Given the description of an element on the screen output the (x, y) to click on. 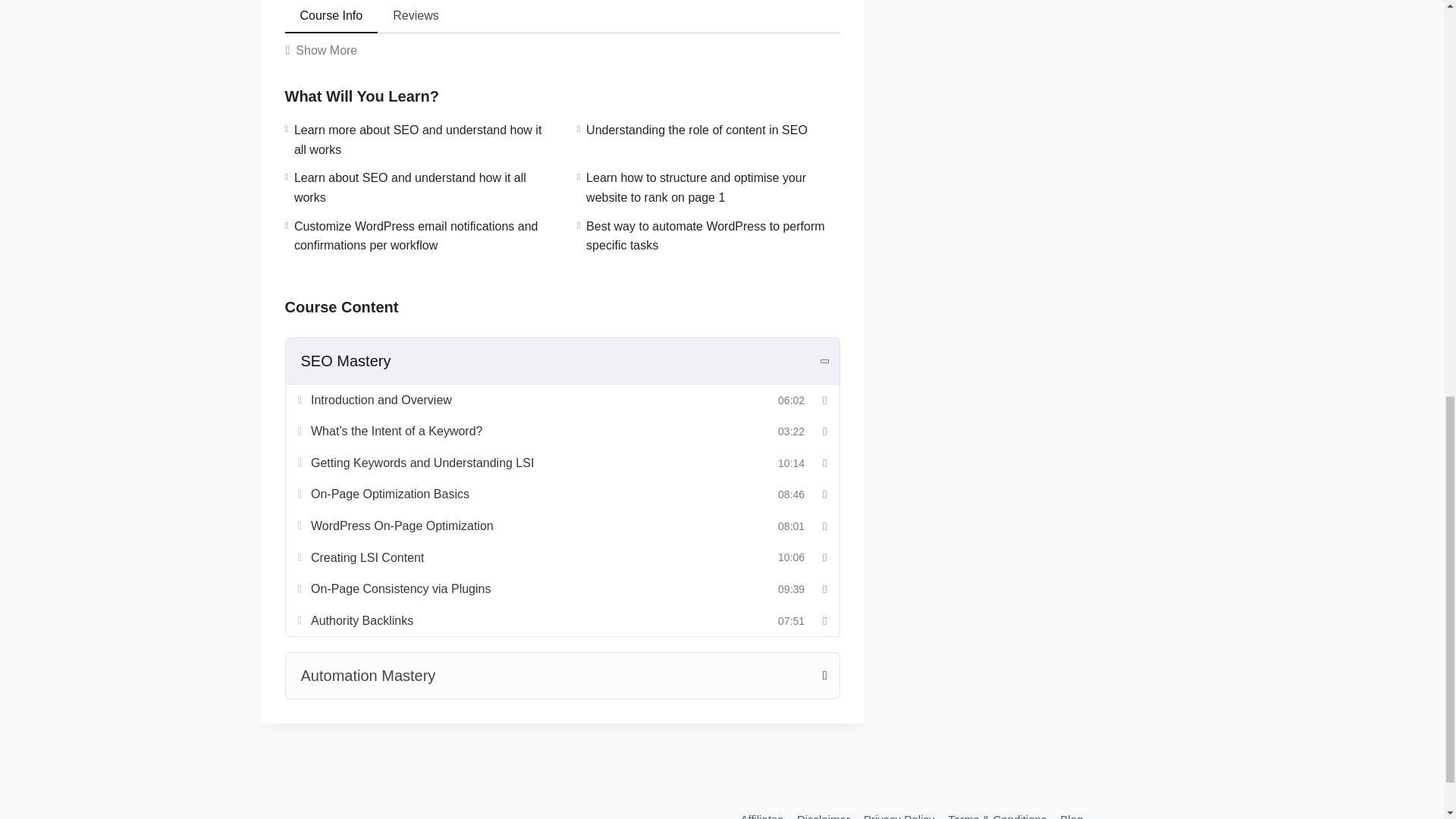
Affiliates (761, 812)
Privacy Policy (898, 812)
Show More (321, 50)
Disclaimer (823, 812)
Blog (1070, 812)
